Given the description of an element on the screen output the (x, y) to click on. 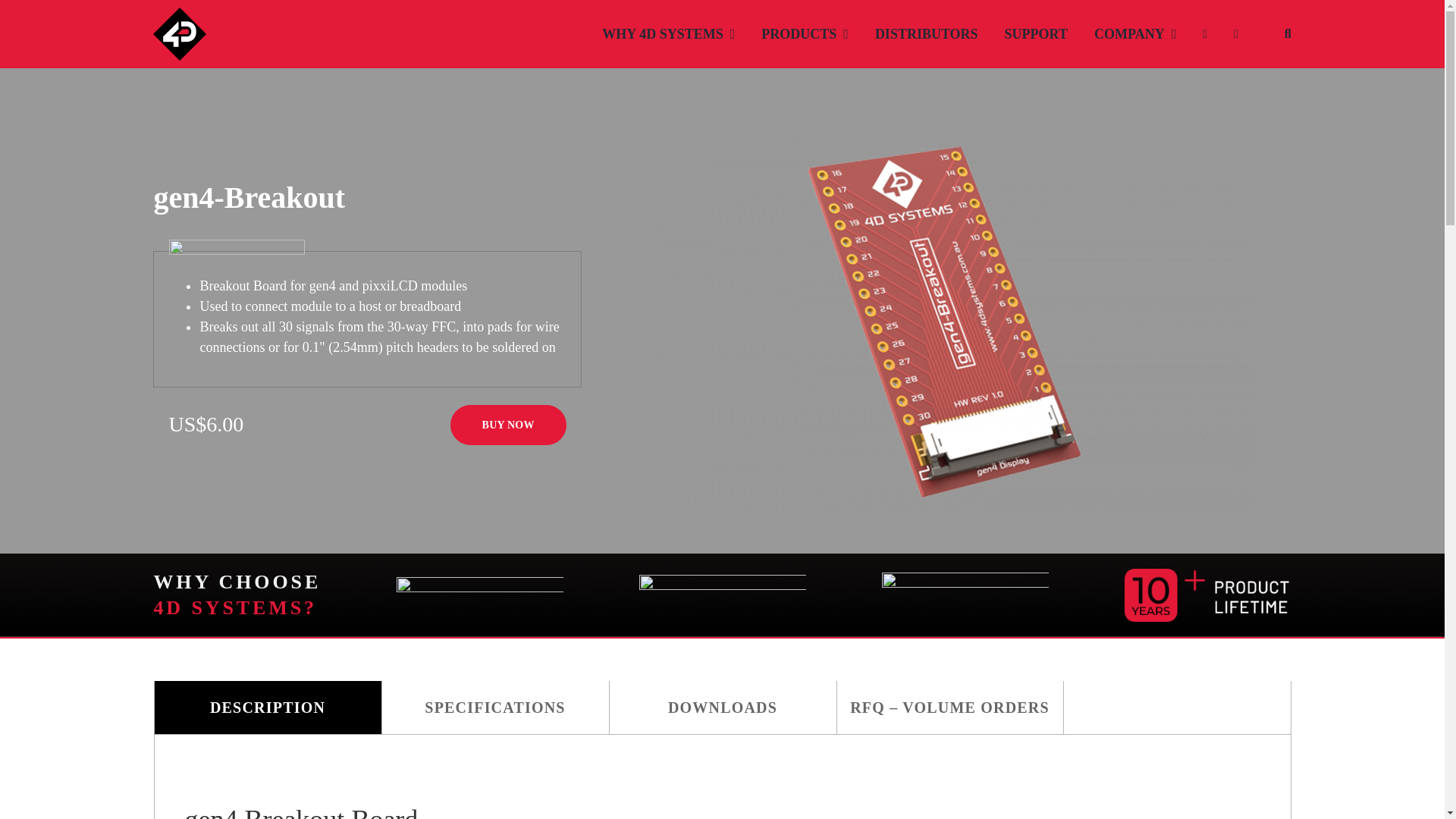
Group 11022 (479, 595)
DOWNLOADS (721, 707)
BUY NOW (507, 424)
main-features-label (236, 250)
COMPANY (1135, 33)
Group 18748 (1207, 594)
WHY 4D SYSTEMS (668, 33)
DISTRIBUTORS (926, 33)
PRODUCTS (804, 33)
Group 11024 (722, 594)
SPECIFICATIONS (494, 707)
DESCRIPTION (266, 707)
SUPPORT (1035, 33)
Group 11023 (965, 595)
